Given the description of an element on the screen output the (x, y) to click on. 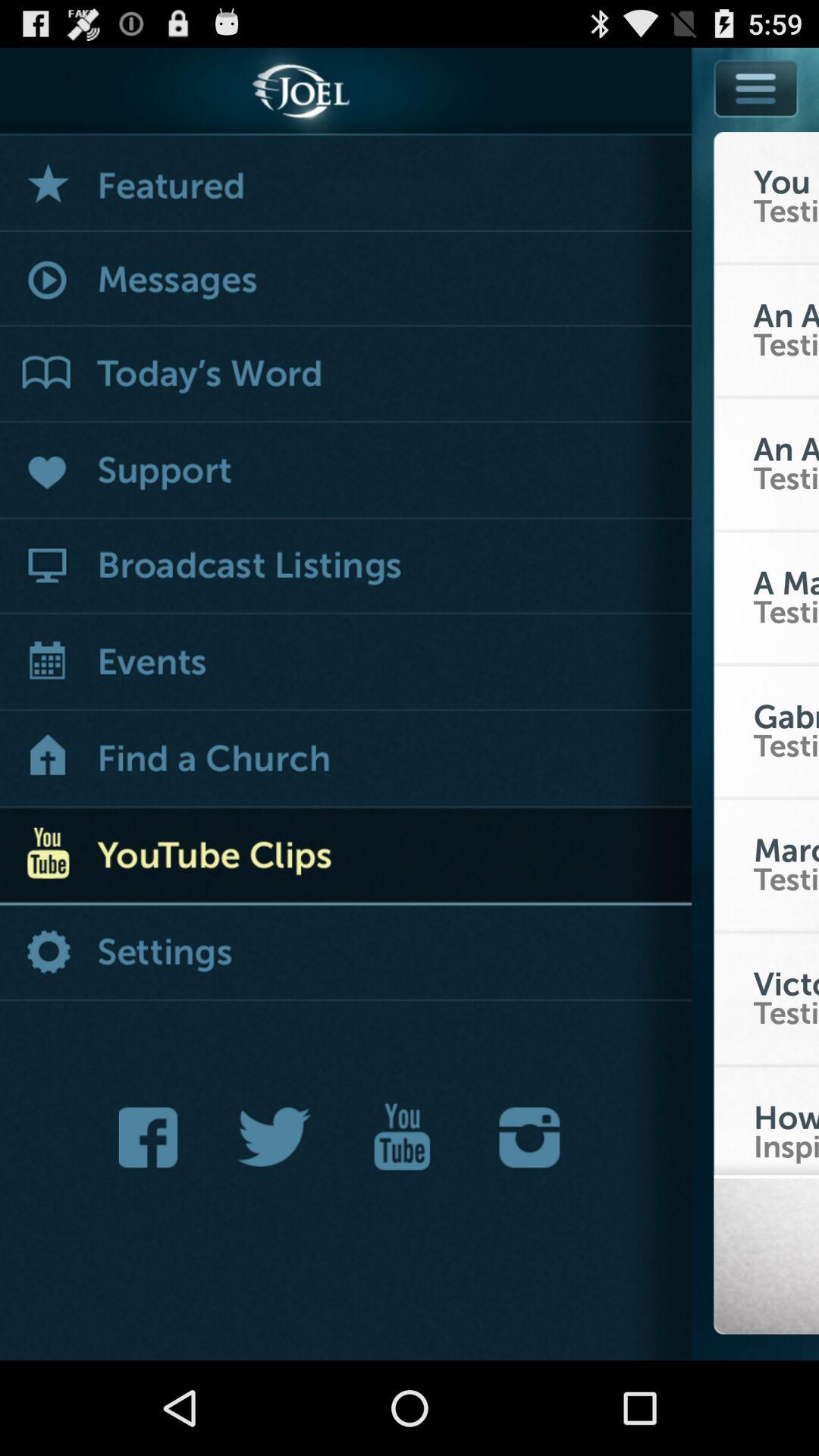
see broadcast listings (345, 566)
